Given the description of an element on the screen output the (x, y) to click on. 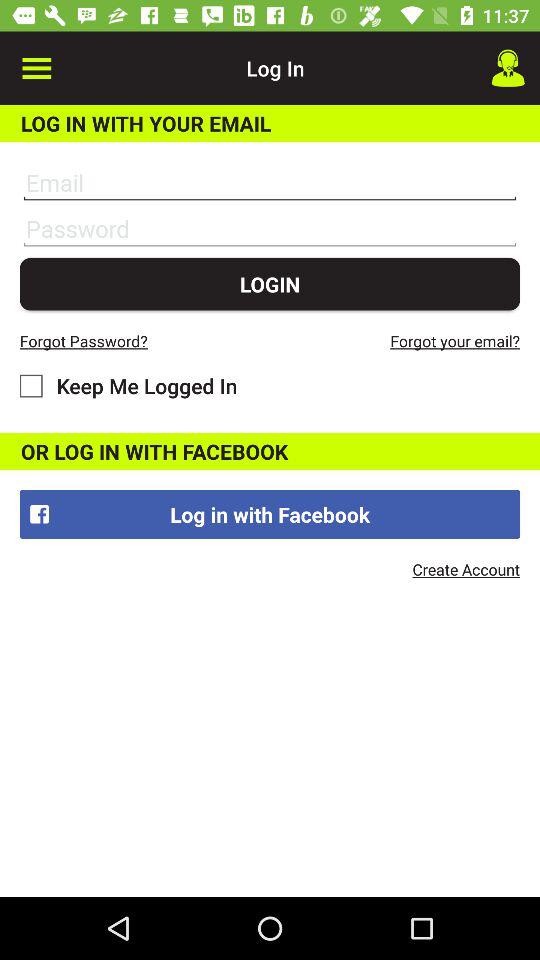
click icon next to the log in item (36, 68)
